Given the description of an element on the screen output the (x, y) to click on. 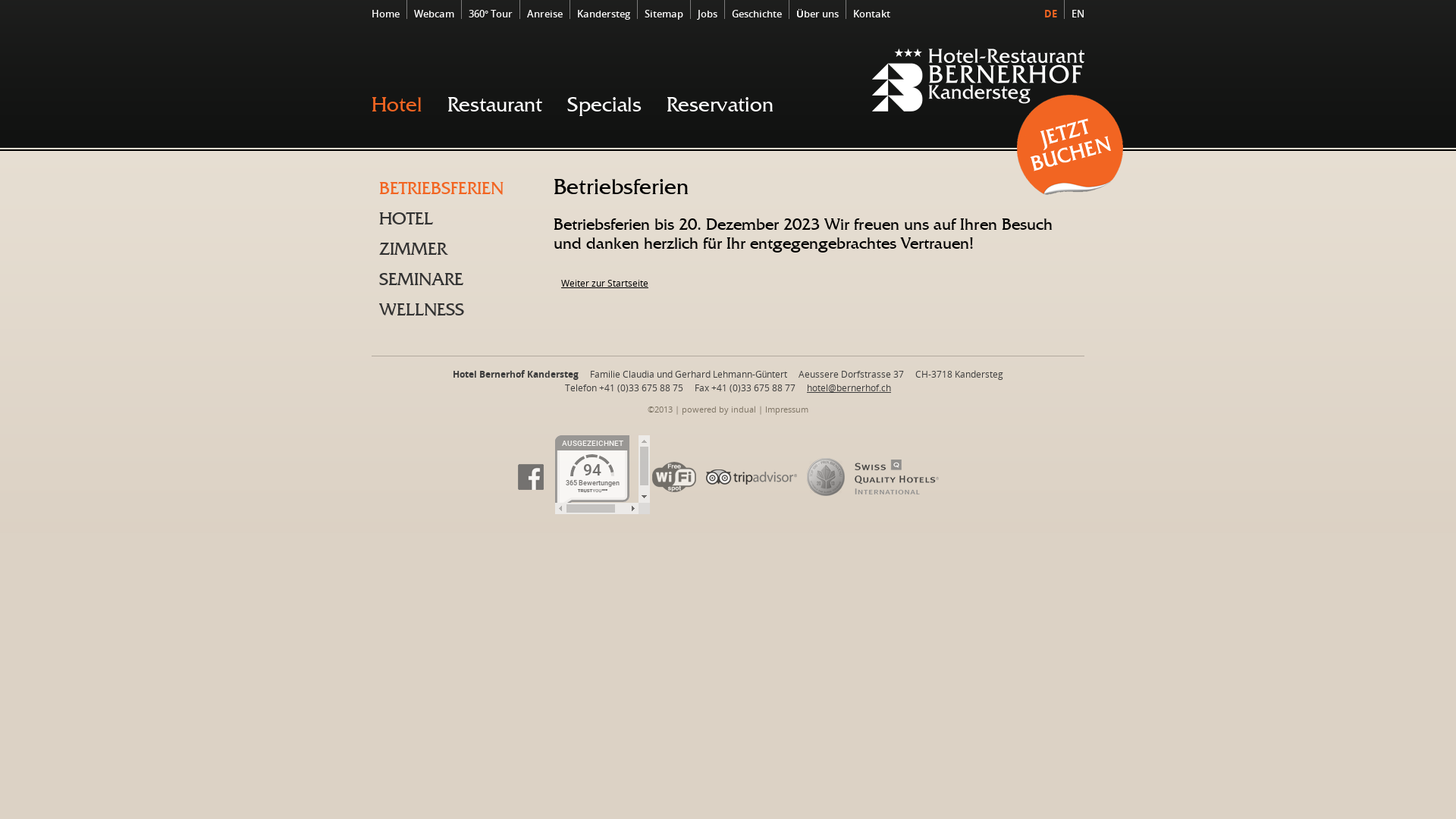
Restaurant Element type: text (494, 104)
Home Element type: text (389, 14)
WELLNESS Element type: text (454, 309)
Anreise Element type: text (546, 14)
DE Element type: text (1048, 14)
Kandersteg Element type: text (604, 14)
SEMINARE Element type: text (454, 279)
HOTEL Element type: text (454, 218)
EN Element type: text (1073, 14)
Specials Element type: text (604, 104)
Geschichte Element type: text (758, 14)
ZIMMER Element type: text (454, 249)
Reservation Element type: text (719, 104)
Jobs Element type: text (708, 14)
Kontakt Element type: text (872, 14)
Weiter zur Startseite Element type: text (604, 282)
Webcam Element type: text (435, 14)
powered by indual Element type: text (718, 408)
hotel@bernerhof.ch Element type: text (848, 387)
BETRIEBSFERIEN Element type: text (454, 188)
  Element type: text (1069, 144)
Impressum Element type: text (786, 408)
Hotel Element type: text (396, 104)
Sitemap Element type: text (665, 14)
